Given the description of an element on the screen output the (x, y) to click on. 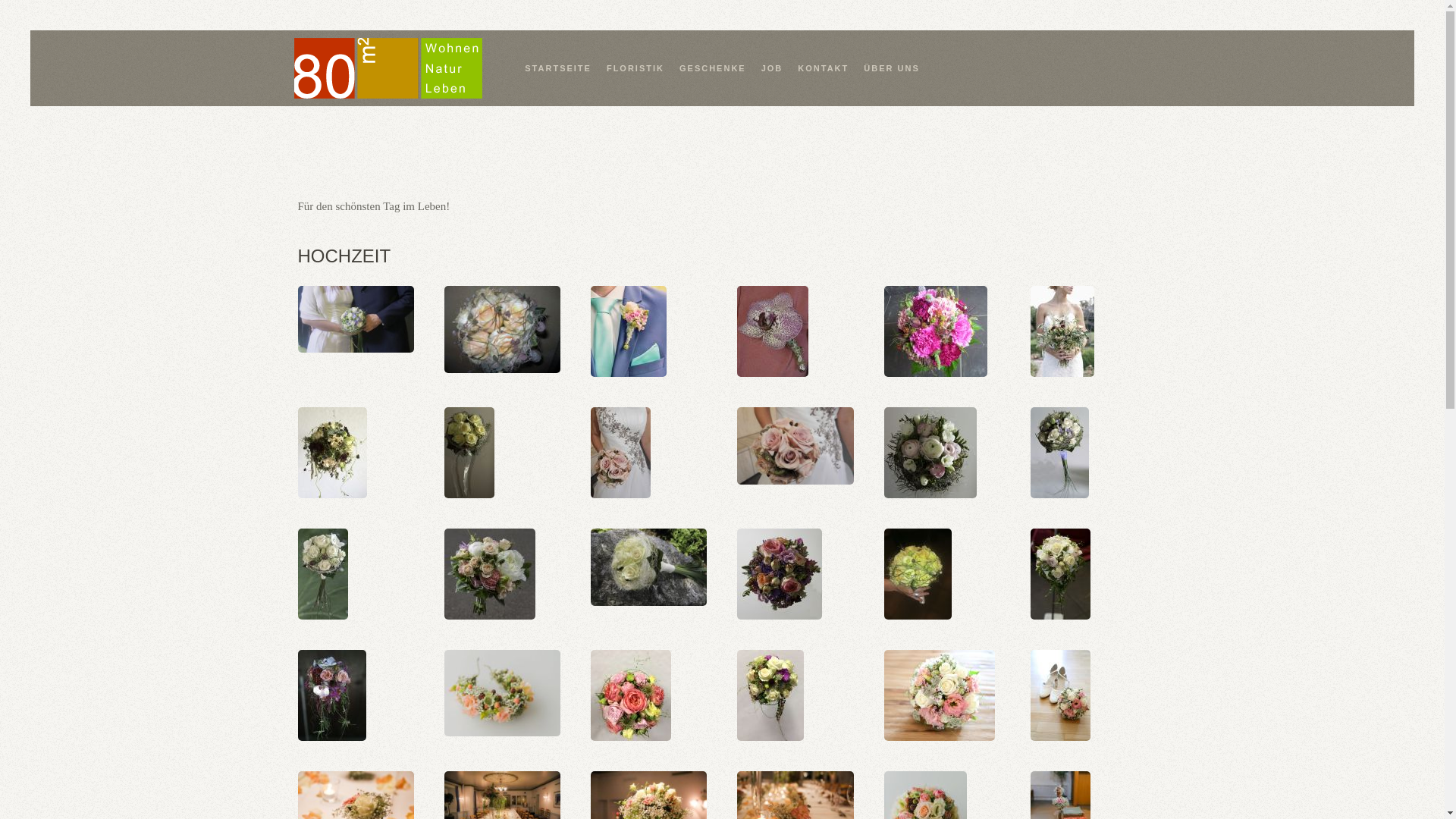
Brautstrauss13 Element type: hover (620, 452)
Brautstrauss1 Element type: hover (355, 318)
Brautstrauss19 Element type: hover (489, 573)
Brautstrauss 21 Element type: hover (935, 330)
Brautstrauss17 Element type: hover (1059, 452)
Hochzeit 11 Element type: hover (770, 694)
Brautstrauss 2 Element type: hover (502, 329)
Brautstrauss2 Element type: hover (648, 566)
Brautstrauss12 Element type: hover (469, 452)
Brautstrauss3 Element type: hover (917, 573)
Hochzeit 12 Element type: hover (939, 694)
Brautstrauss20 Element type: hover (779, 573)
Brautstrauss18 Element type: hover (322, 573)
Hochzeit 10 Element type: hover (630, 694)
Anstecker2 Element type: hover (772, 330)
GESCHENKE Element type: text (712, 68)
Anstecker 1 Element type: hover (628, 330)
Hochzeit 13 Element type: hover (1060, 694)
JOB Element type: text (771, 68)
Brautstrauss16 Element type: hover (930, 452)
KONTAKT Element type: text (823, 68)
Brautstrauss4 Element type: hover (1060, 573)
STARTSEITE Element type: text (558, 68)
FLORISTIK Element type: text (635, 68)
Brautstrauss 22 Element type: hover (1062, 330)
Brautstrauss7 Element type: hover (331, 694)
Hochzeit 1 Element type: hover (502, 692)
Brautstrauss 23 Element type: hover (331, 452)
Brautstrauss14 Element type: hover (795, 445)
